Given the description of an element on the screen output the (x, y) to click on. 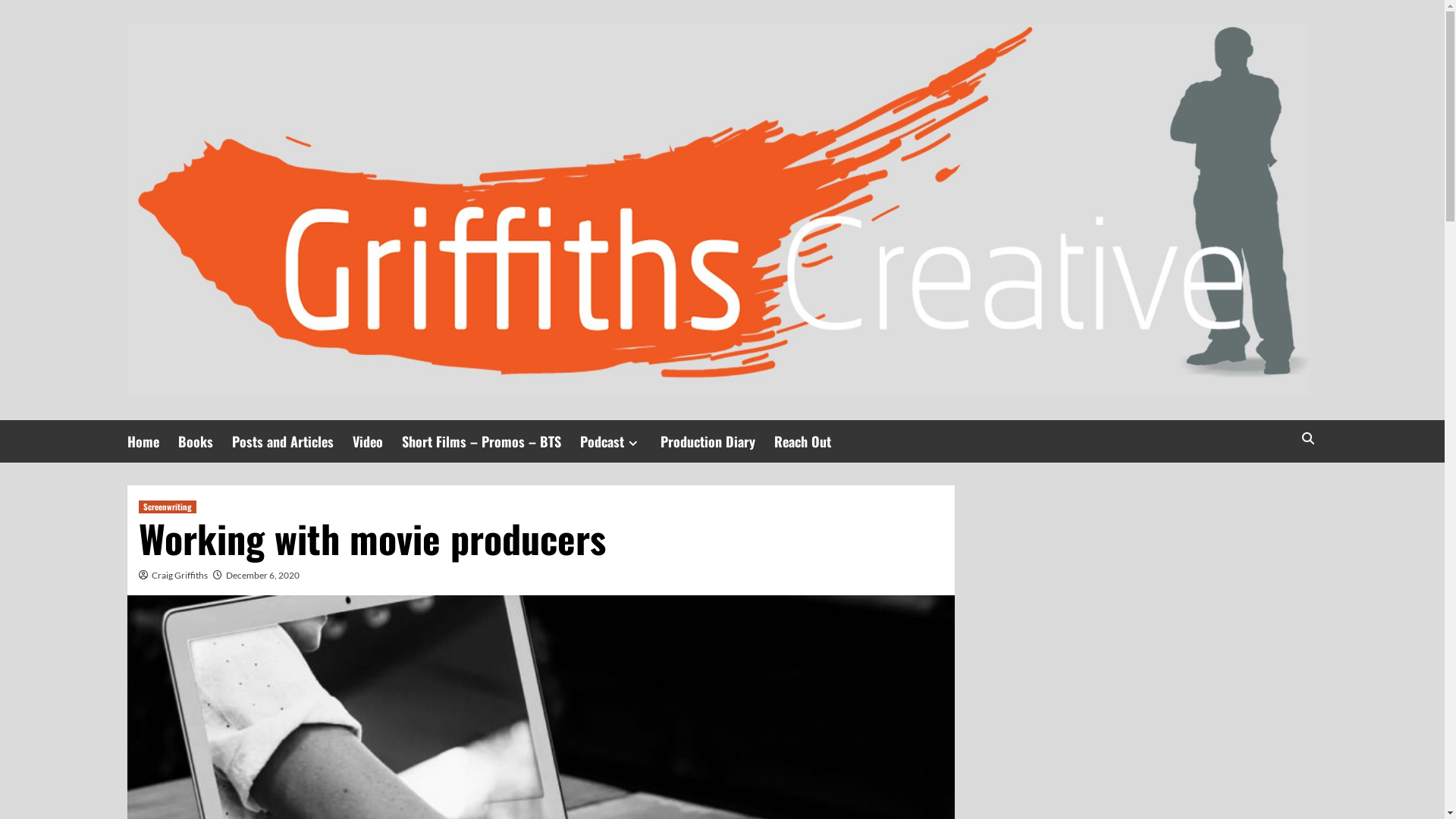
Screenwriting Element type: text (166, 506)
Search Element type: hover (1307, 438)
December 6, 2020 Element type: text (262, 574)
Books Element type: text (204, 441)
Production Diary Element type: text (716, 441)
Podcast Element type: text (619, 441)
Posts and Articles Element type: text (292, 441)
Reach Out Element type: text (811, 441)
Craig Griffiths Element type: text (179, 574)
Video Element type: text (376, 441)
Search Element type: text (1272, 485)
Home Element type: text (152, 441)
